Given the description of an element on the screen output the (x, y) to click on. 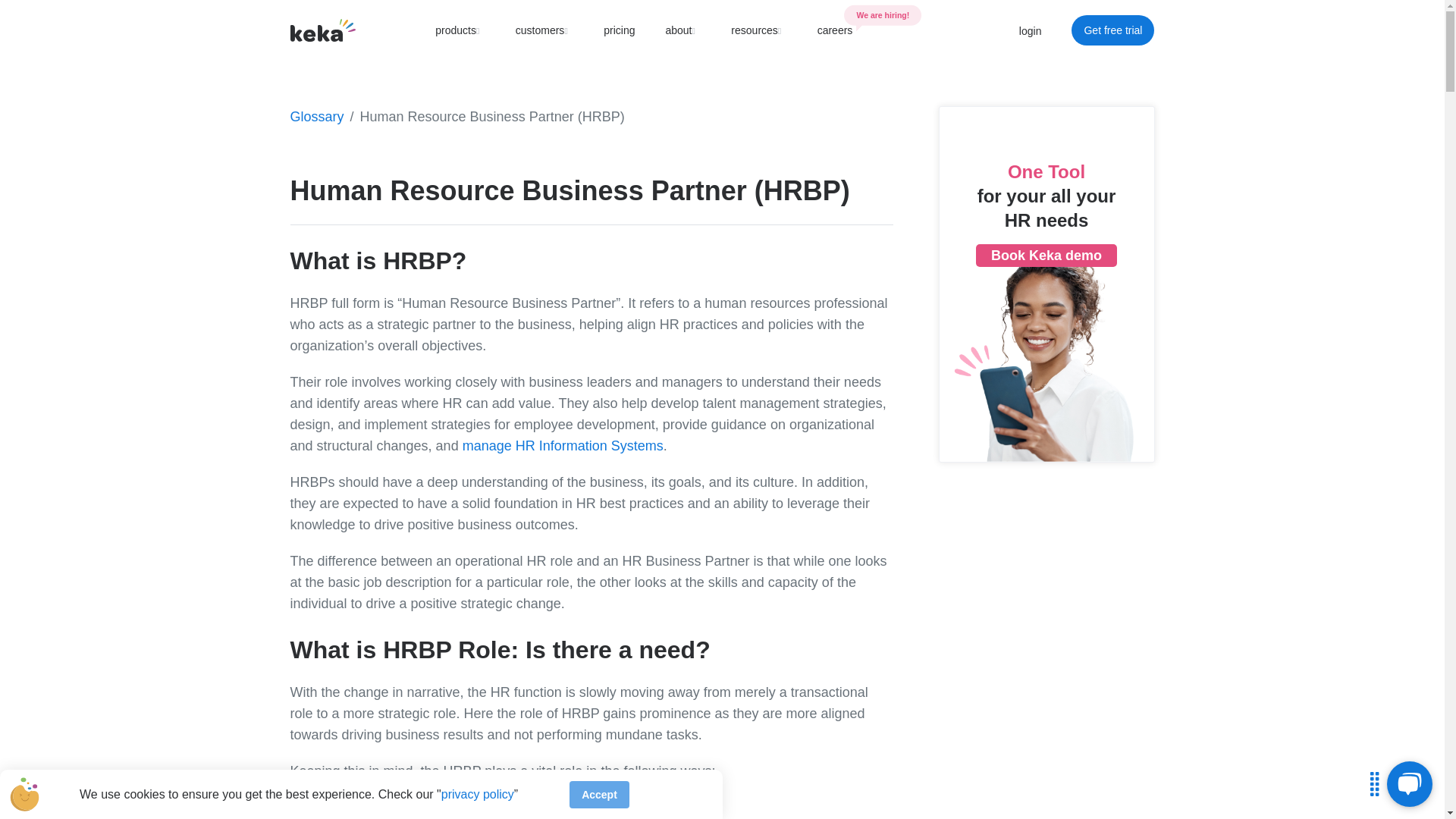
products (459, 30)
login (1030, 30)
Glossary (316, 116)
resources (834, 30)
about (758, 30)
customers (682, 30)
manage HR Information Systems (544, 30)
Get free trial (563, 445)
pricing (1112, 30)
